Given the description of an element on the screen output the (x, y) to click on. 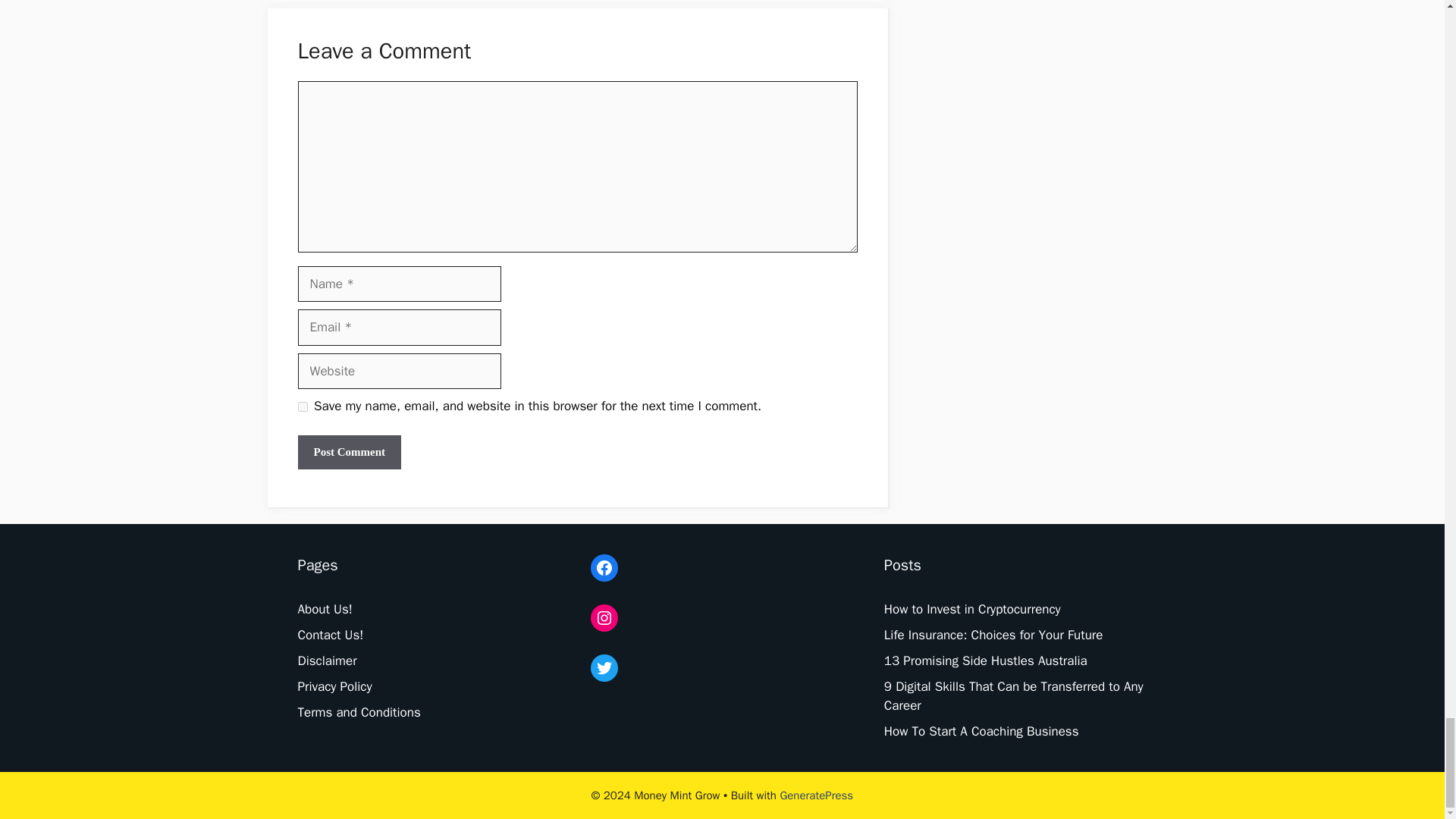
Post Comment (349, 451)
yes (302, 406)
